Given the description of an element on the screen output the (x, y) to click on. 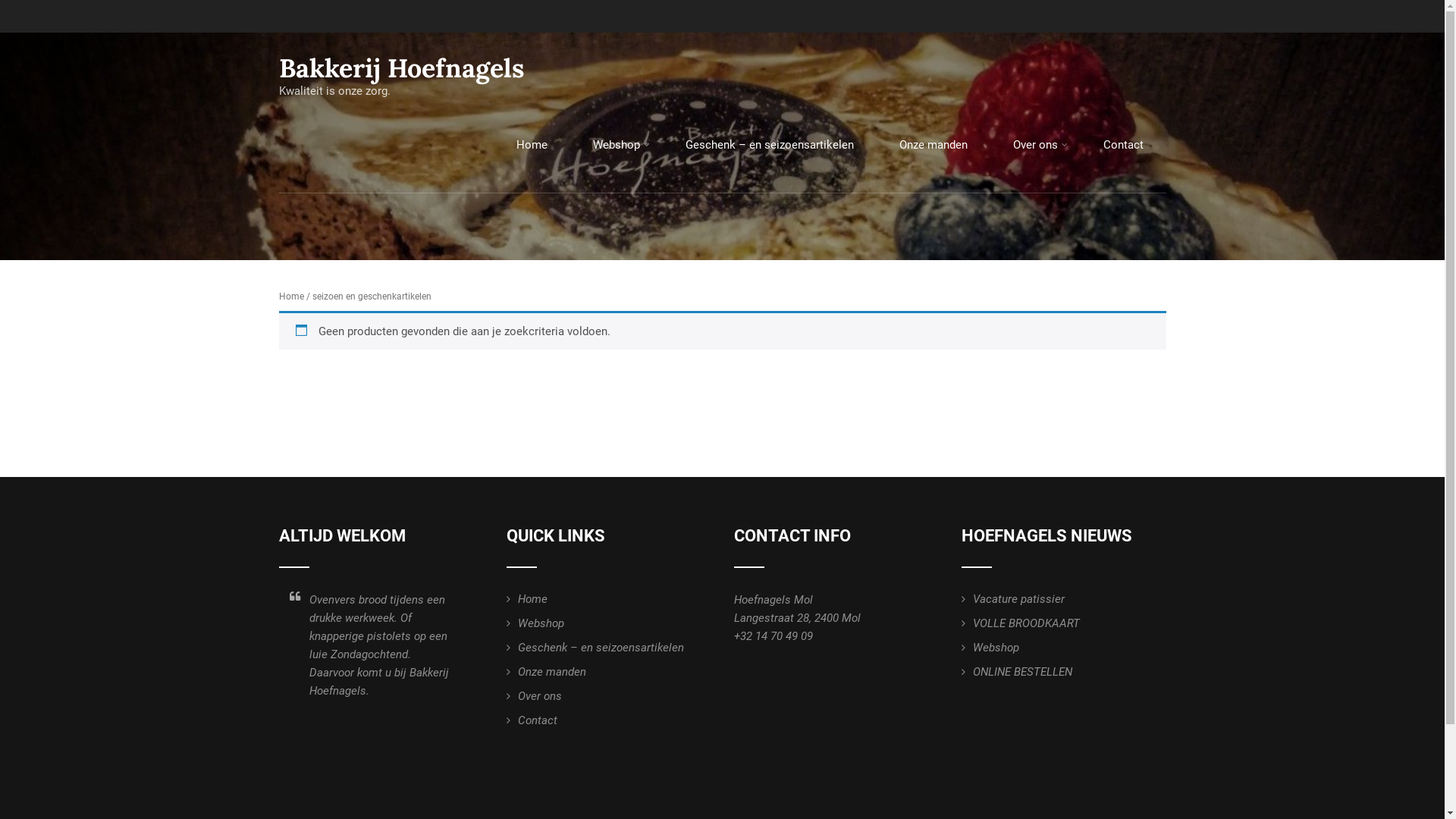
Contact Element type: text (531, 720)
ONLINE BESTELLEN Element type: text (1016, 671)
Bakkerij Hoefnagels Element type: text (401, 67)
Home Element type: text (291, 295)
VOLLE BROODKAART Element type: text (1020, 623)
Hoefnagels Mol Element type: text (773, 599)
Webshop Element type: text (616, 144)
Onze manden Element type: text (546, 671)
Over ons Element type: text (1035, 144)
Vacature patissier Element type: text (1012, 598)
Home Element type: text (526, 598)
Webshop Element type: text (990, 647)
Webshop Element type: text (535, 623)
Onze manden Element type: text (933, 144)
Over ons Element type: text (533, 695)
Home Element type: text (530, 144)
Contact Element type: text (1122, 144)
